Given the description of an element on the screen output the (x, y) to click on. 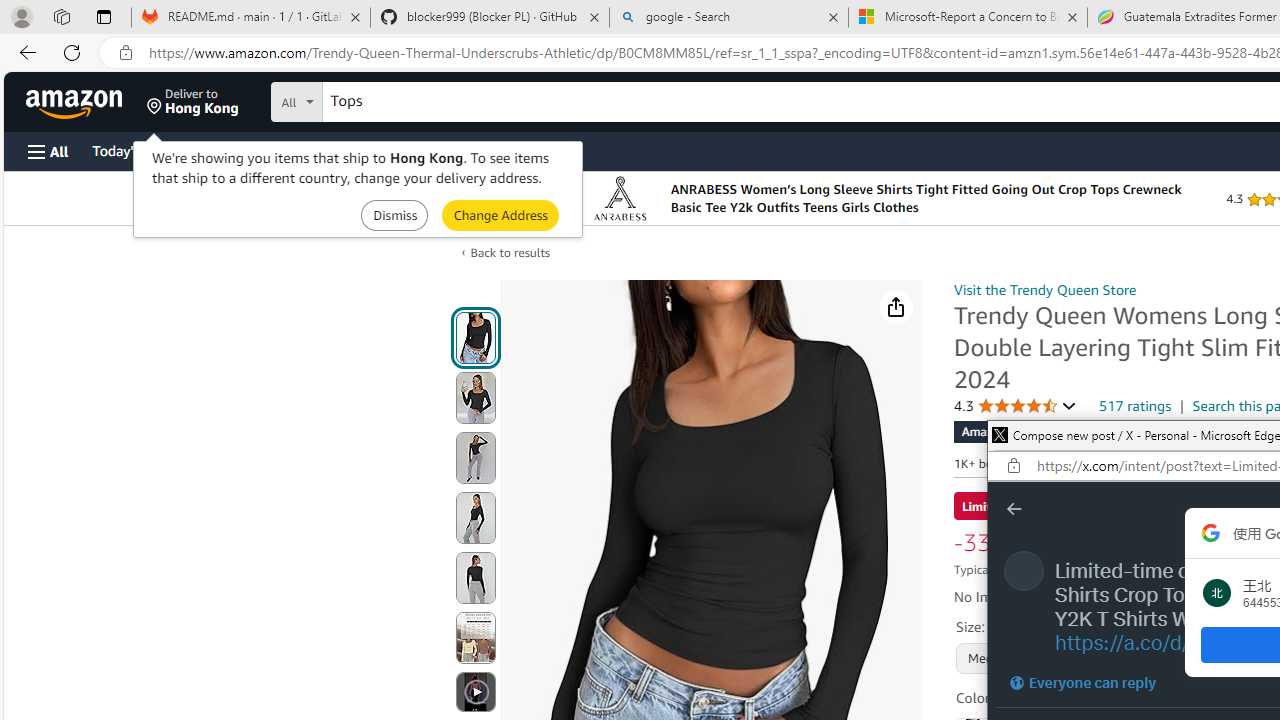
517 ratings (1135, 405)
google - Search (729, 17)
Open Menu (48, 151)
Amazon (76, 101)
Deliver to Hong Kong (193, 101)
Back to results (509, 252)
